Given the description of an element on the screen output the (x, y) to click on. 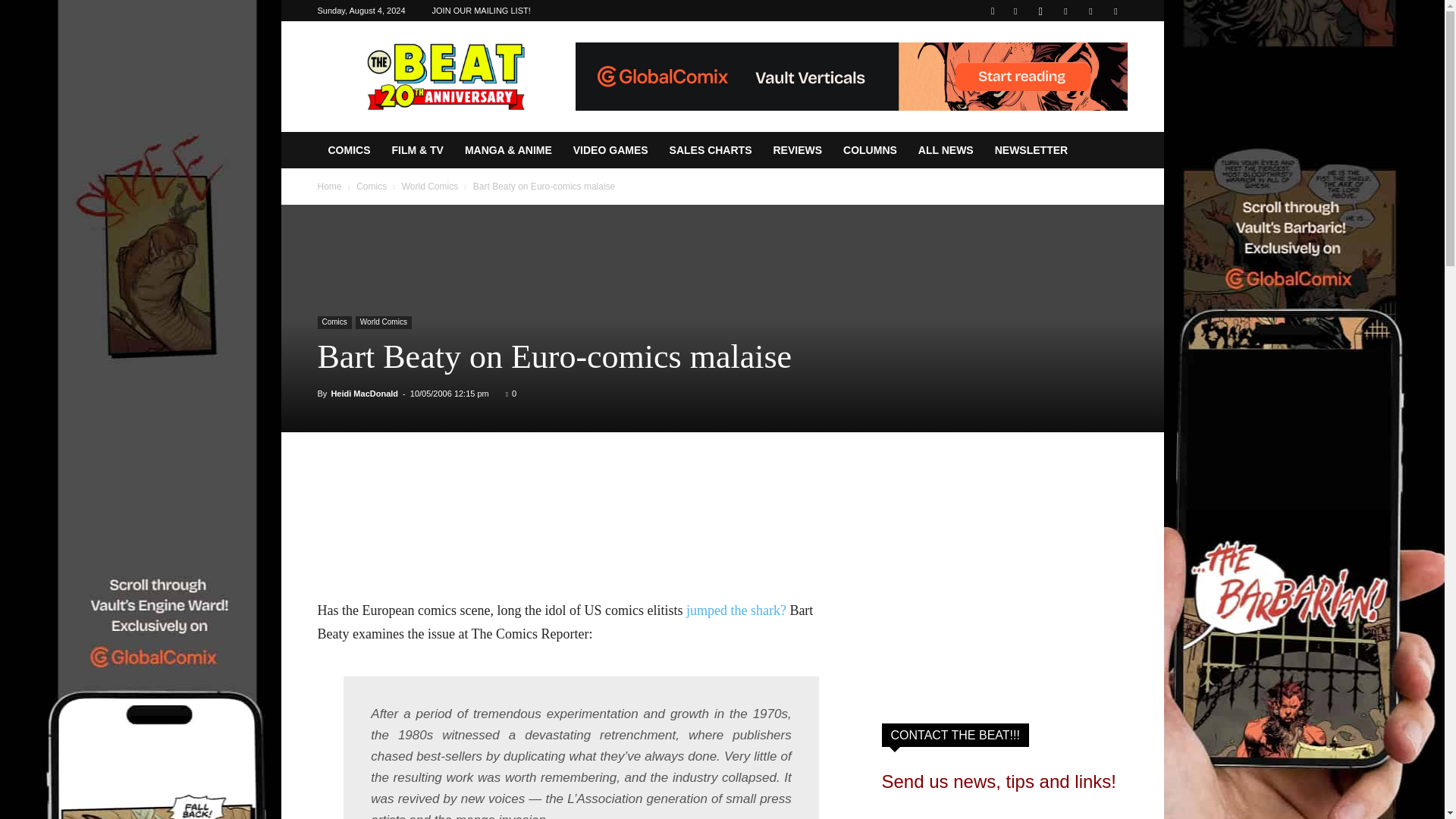
SALES CHARTS (710, 149)
VIDEO GAMES (610, 149)
View all posts in Comics (371, 185)
Youtube (1114, 10)
JOIN OUR MAILING LIST! (481, 10)
Instagram (1040, 10)
COMICS (348, 149)
View all posts in World Comics (429, 185)
NEWSLETTER (1031, 149)
ALL NEWS (945, 149)
